Given the description of an element on the screen output the (x, y) to click on. 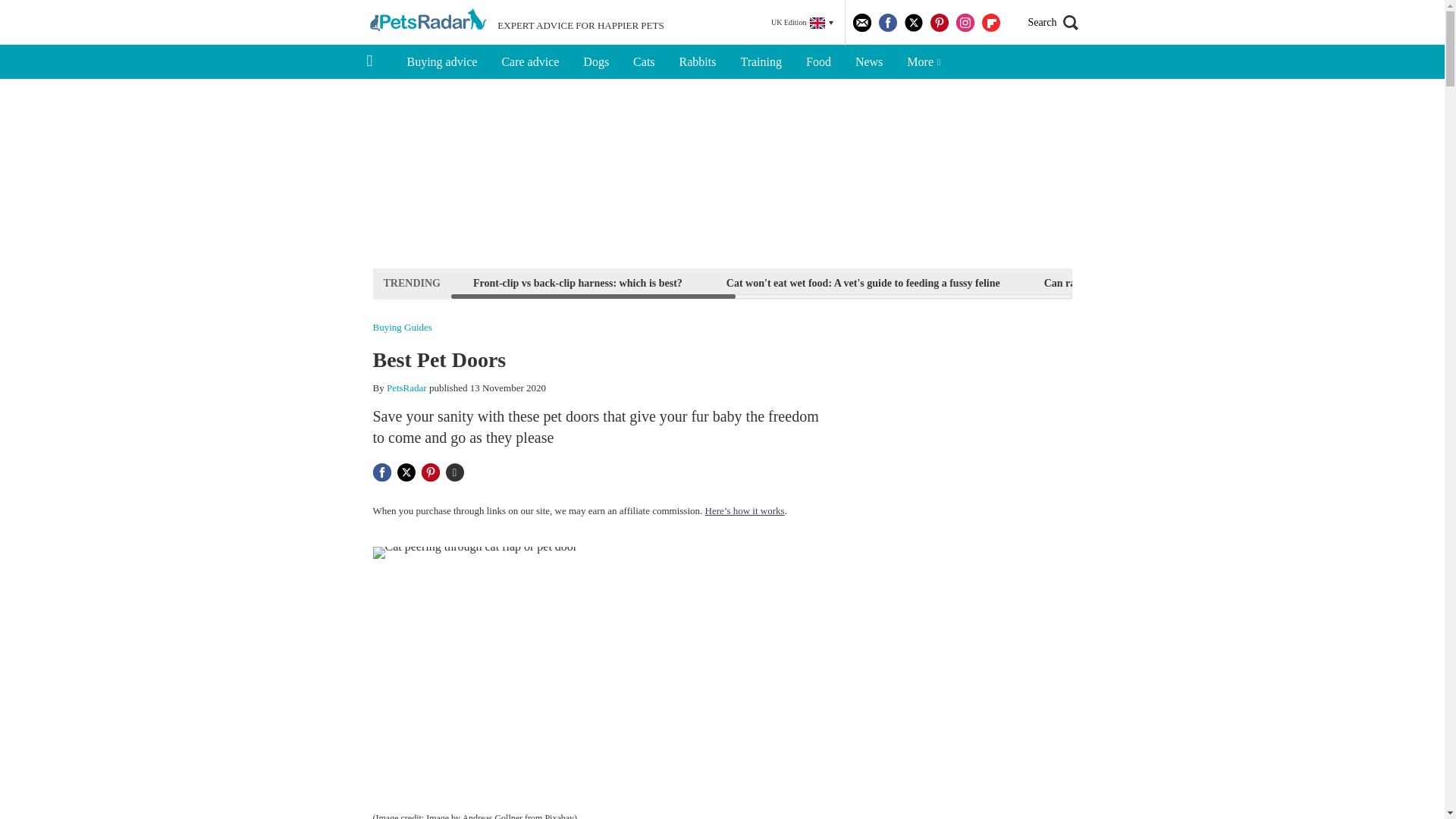
Dogs (595, 61)
Food (818, 61)
News (869, 61)
Care advice (529, 61)
Training (760, 61)
Can rabbits live alone? (1096, 282)
10 easy home remedies for fleas on cats (1281, 282)
PetsRadar (406, 387)
Rabbits (697, 61)
Cats (643, 61)
